Given the description of an element on the screen output the (x, y) to click on. 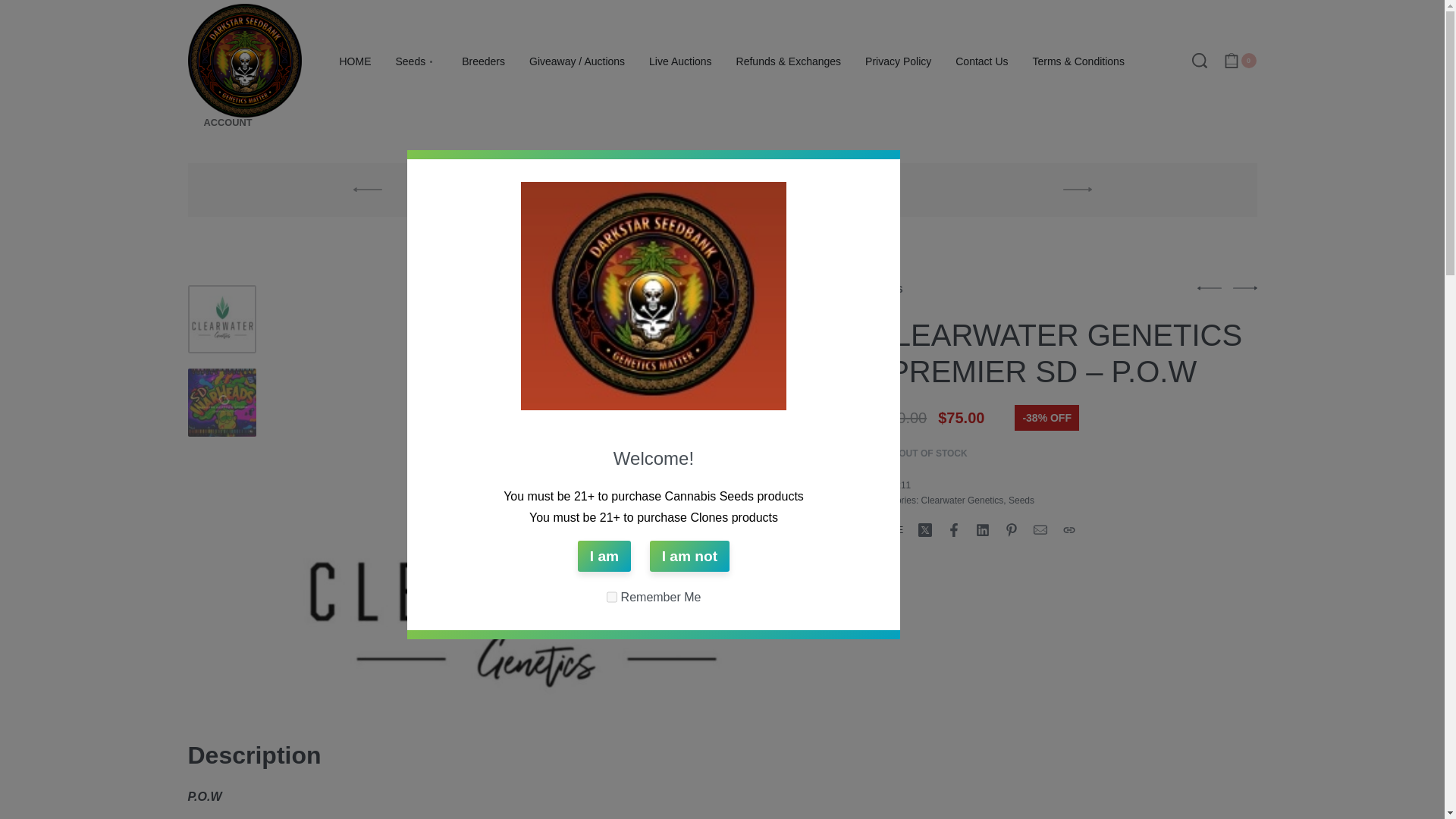
SEEDS (887, 289)
ACCOUNT (228, 122)
CLEARWATER GENETICS - SPEARMINT STYLE (1245, 288)
Contact Us (981, 62)
HOME (355, 62)
Seeds (417, 62)
Live Auctions (680, 62)
Privacy Policy (897, 62)
Fastest Shipping In the US (722, 189)
0 (1239, 60)
Breeders (483, 62)
